Given the description of an element on the screen output the (x, y) to click on. 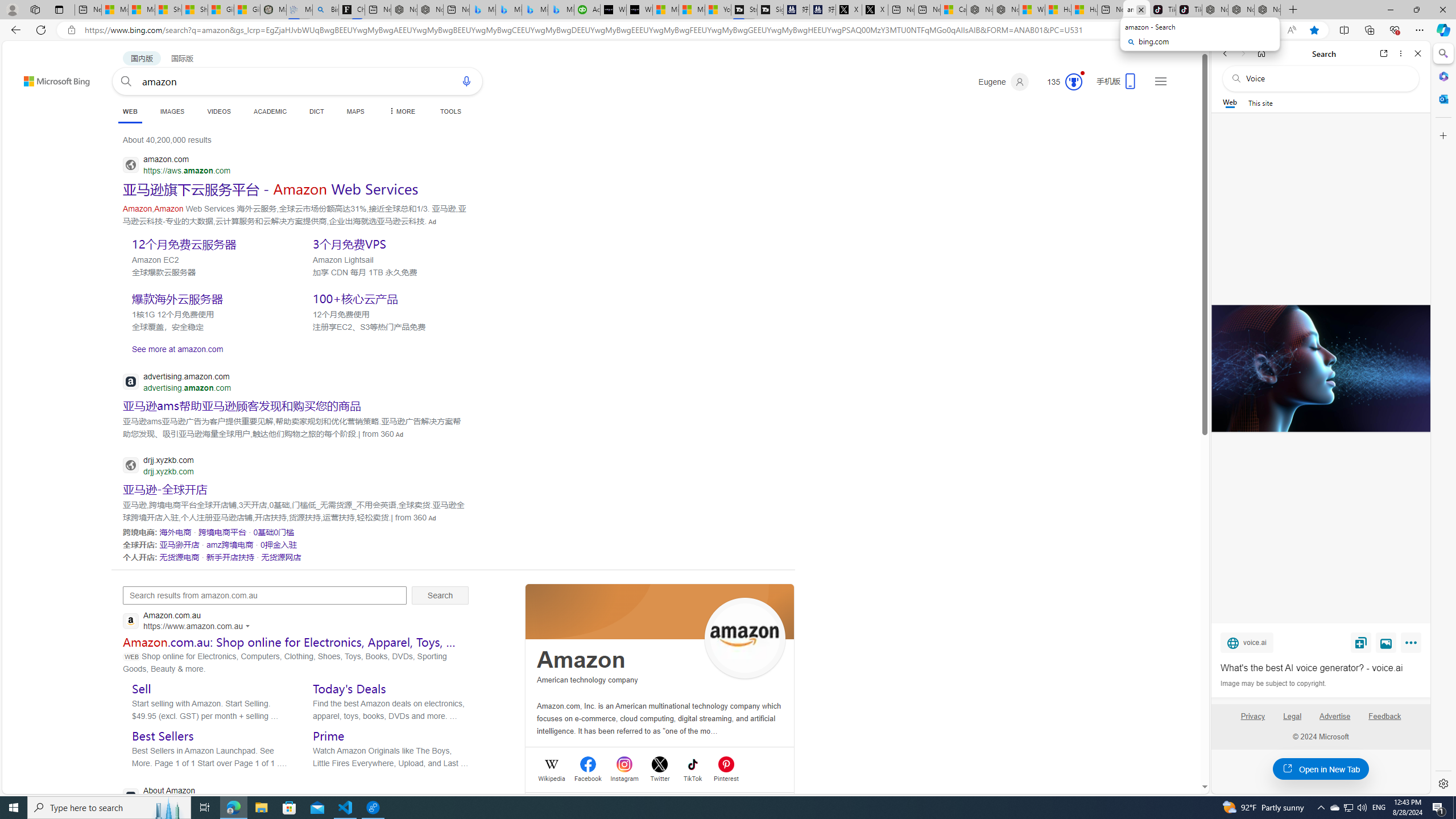
SERP,5553 (388, 298)
Web scope (1230, 102)
Save (1361, 642)
Settings and quick links (1160, 80)
Twitter (660, 777)
Legal (1292, 720)
SERP,5558 (241, 404)
Forward (1242, 53)
